Given the description of an element on the screen output the (x, y) to click on. 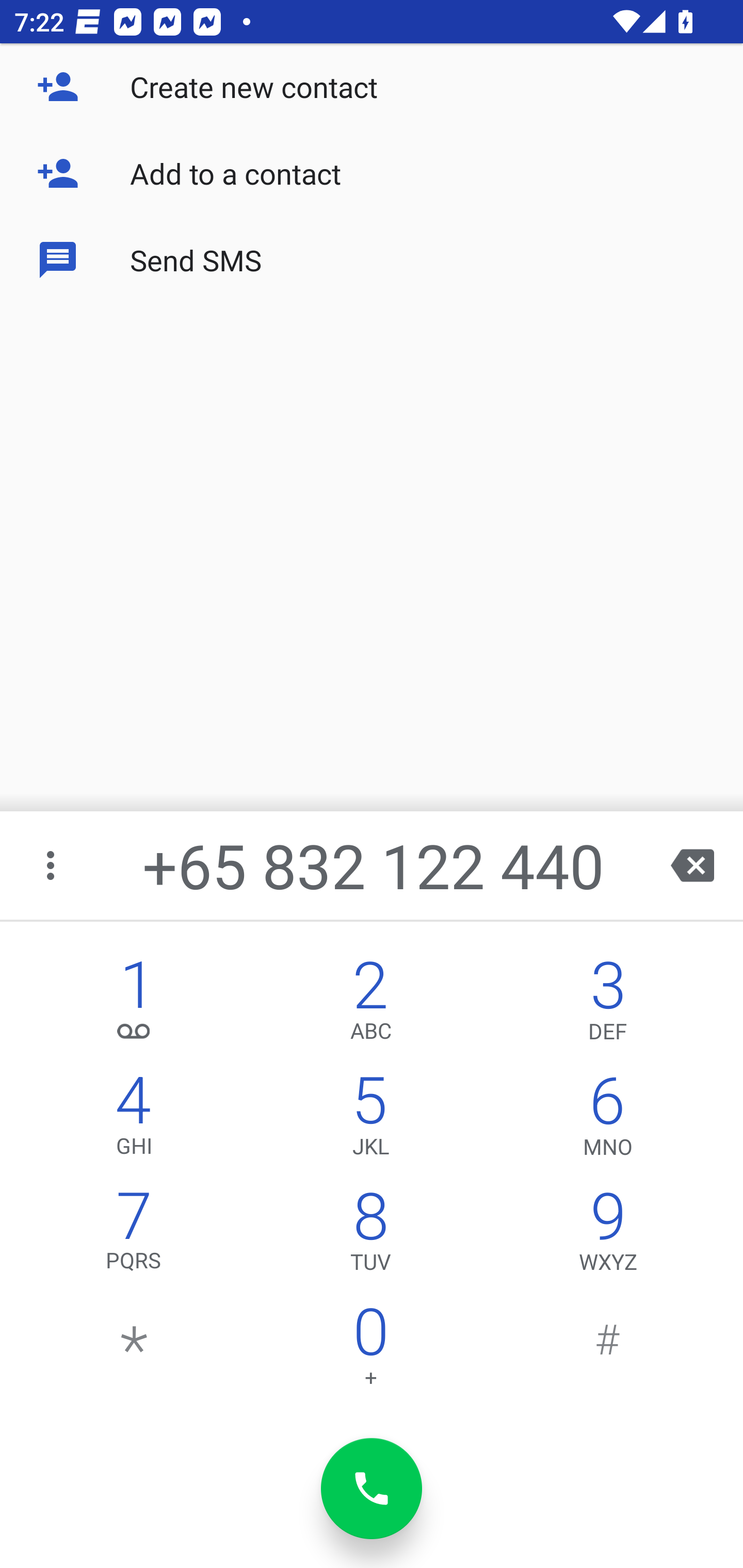
Create new contact (371, 86)
Add to a contact (371, 173)
Send SMS (371, 259)
+65 832 122 440 (372, 865)
backspace (692, 865)
More options (52, 865)
1, 1 (133, 1005)
2,ABC 2 ABC (370, 1005)
3,DEF 3 DEF (607, 1005)
4,GHI 4 GHI (133, 1120)
5,JKL 5 JKL (370, 1120)
6,MNO 6 MNO (607, 1120)
7,PQRS 7 PQRS (133, 1235)
8,TUV 8 TUV (370, 1235)
9,WXYZ 9 WXYZ (607, 1235)
* (133, 1351)
0 0 + (370, 1351)
# (607, 1351)
dial (371, 1488)
